Given the description of an element on the screen output the (x, y) to click on. 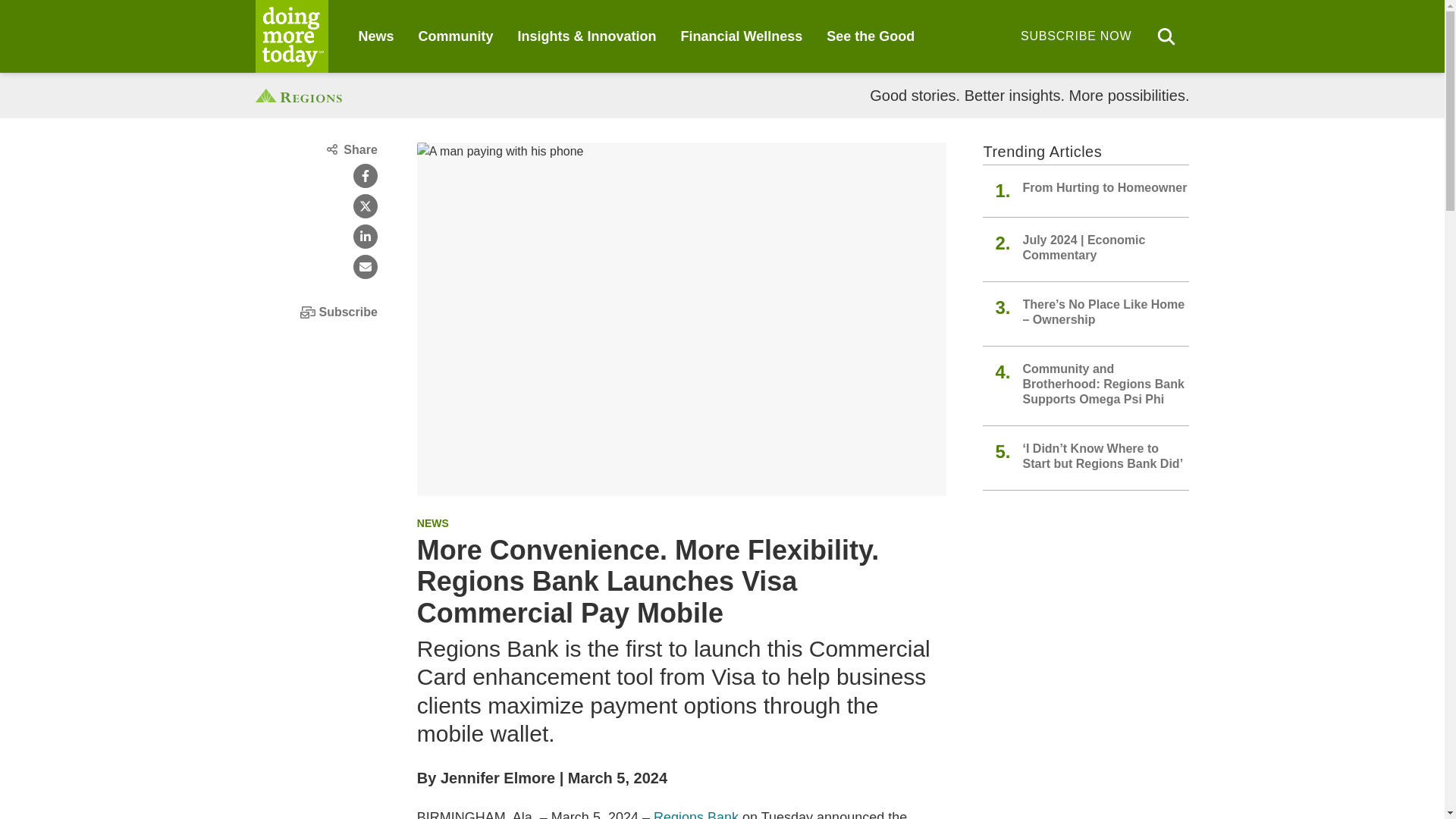
NEWS (432, 522)
Regions Bank (695, 814)
Subscribe (315, 312)
News (375, 35)
Share on LinkedIn (365, 236)
Community (456, 35)
Share on Facebook (365, 175)
Share via Email (365, 266)
Financial Wellness (742, 35)
SUBSCRIBE NOW (1075, 36)
Share via Email (365, 266)
Share on X (365, 206)
See the Good (870, 35)
